Given the description of an element on the screen output the (x, y) to click on. 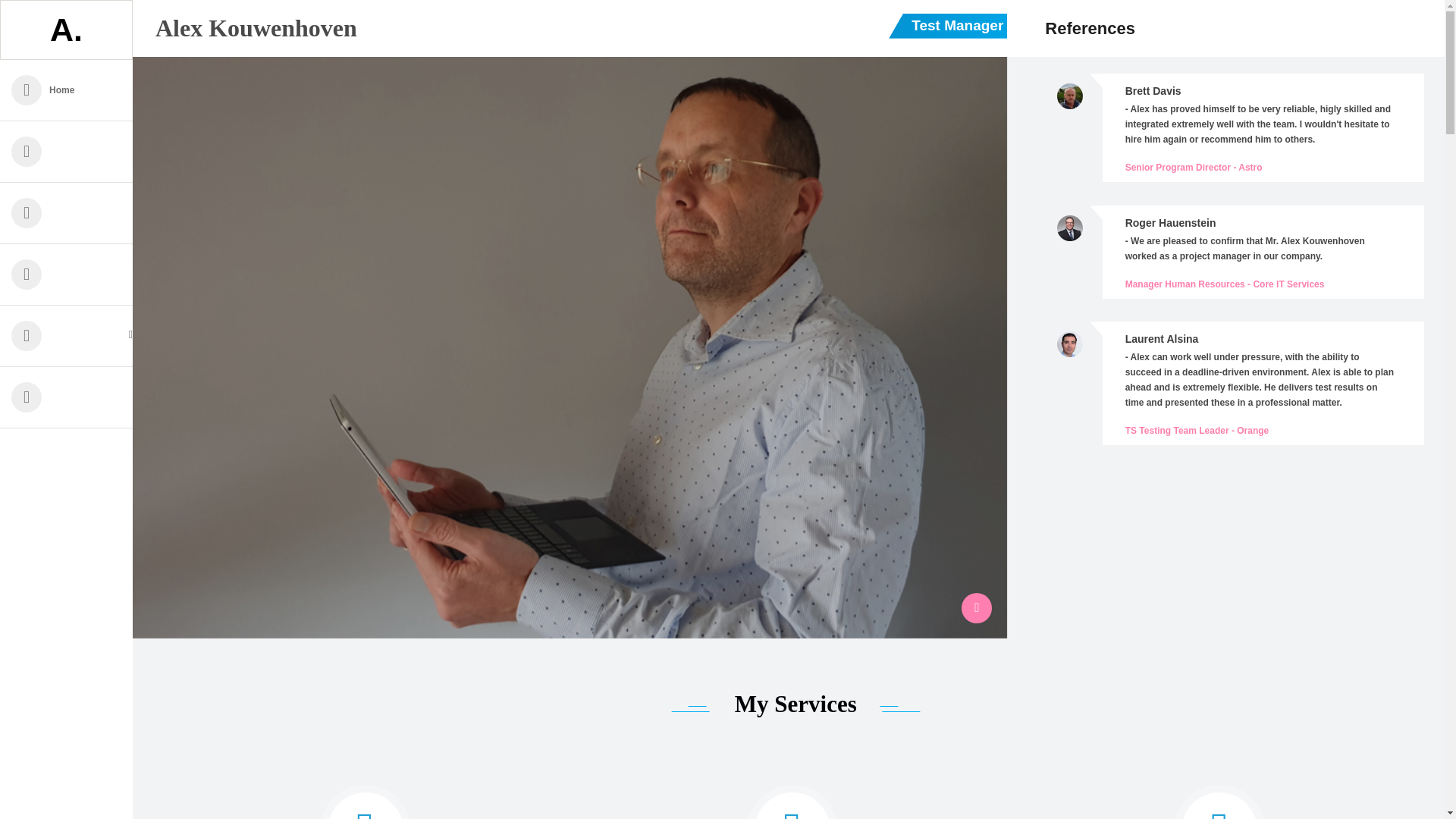
More About Me (66, 335)
About Me (66, 151)
LinkedIn (975, 607)
Projects (66, 213)
Alex Kouwenhoven (255, 27)
Home (66, 90)
Contact Me (66, 397)
References (66, 274)
